Given the description of an element on the screen output the (x, y) to click on. 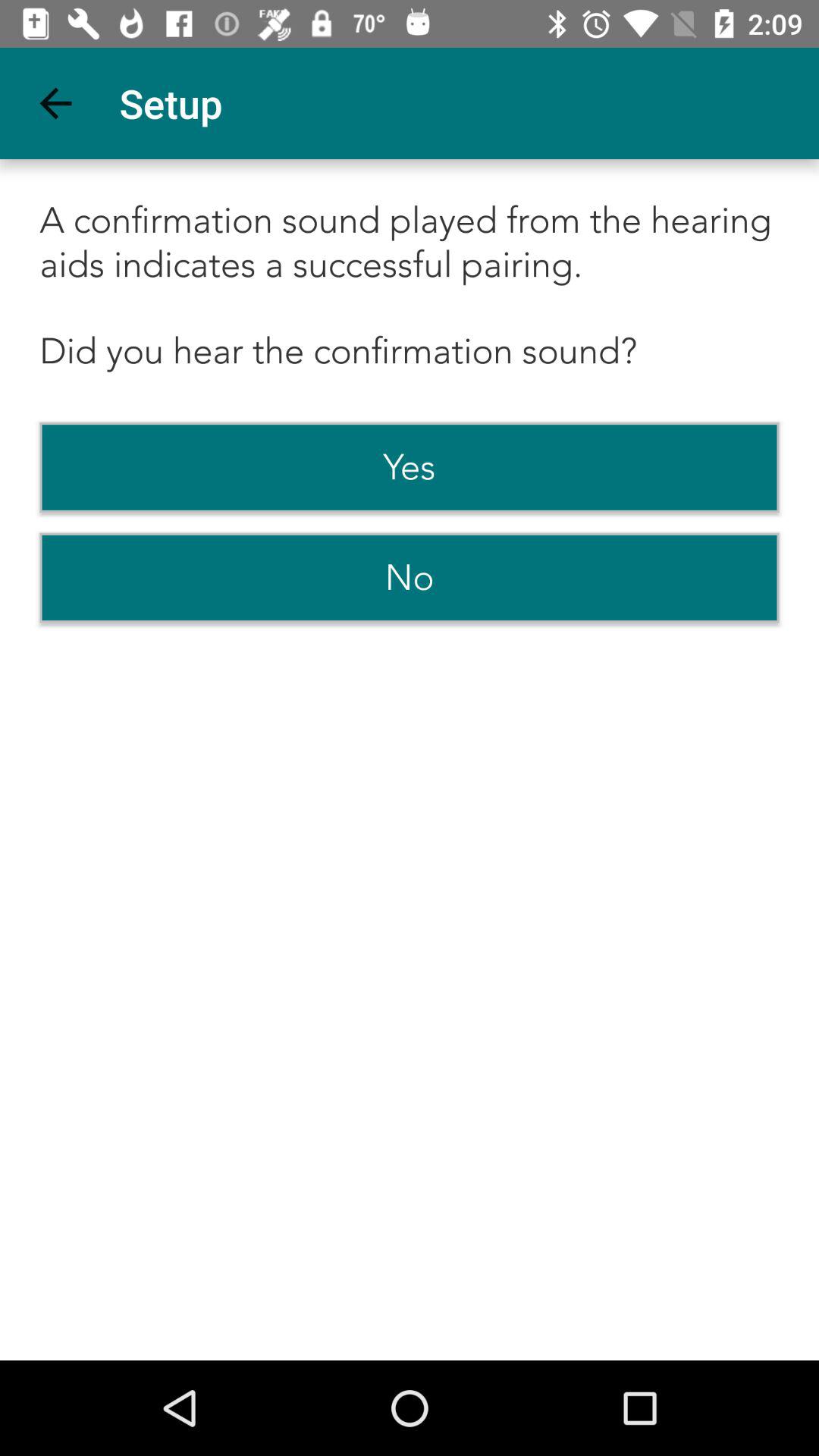
jump to the no (409, 577)
